Given the description of an element on the screen output the (x, y) to click on. 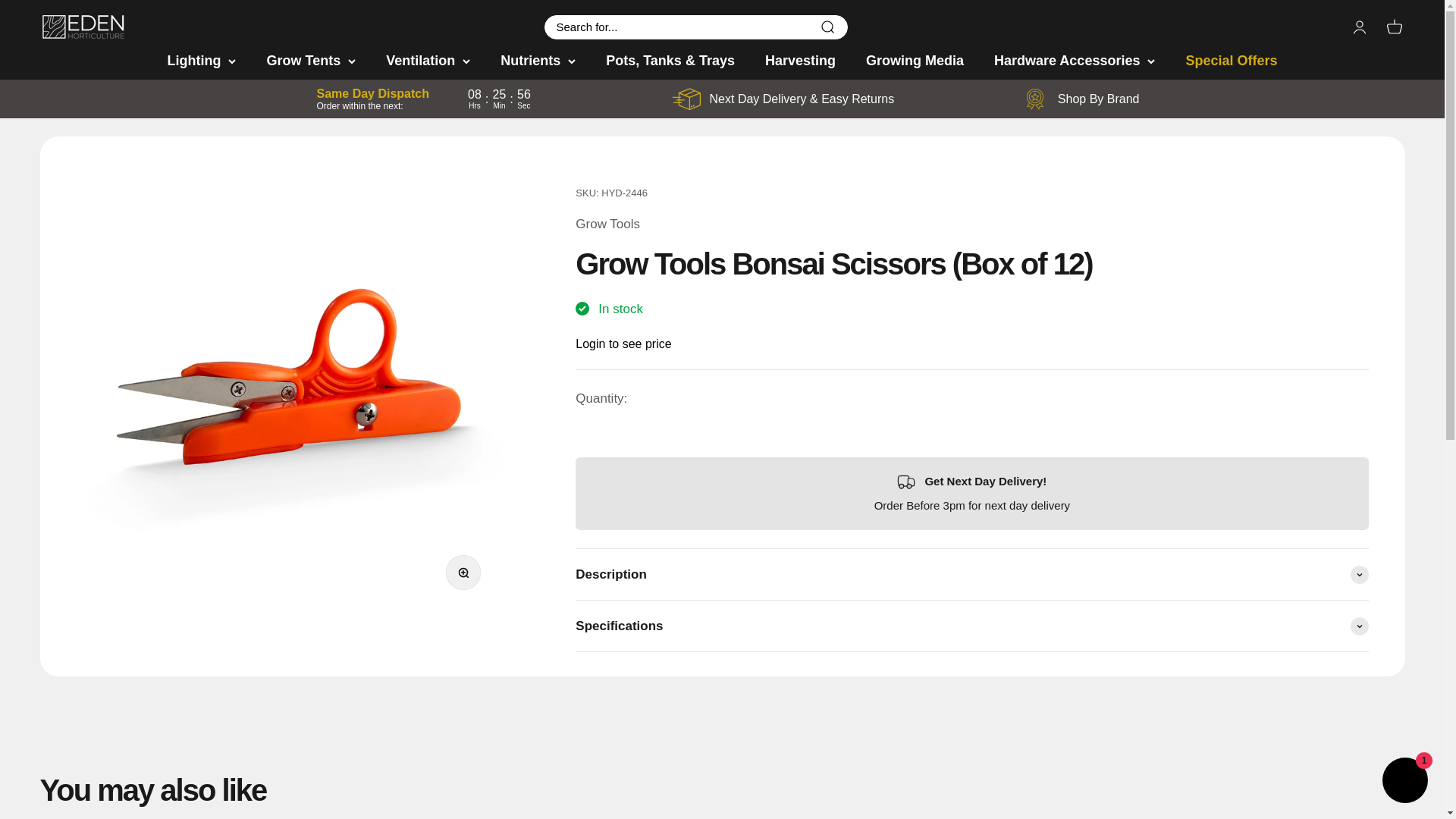
Growing Media (914, 60)
Harvesting (800, 60)
Eden Horticulture Ltd (1394, 26)
Open account page (82, 26)
